Given the description of an element on the screen output the (x, y) to click on. 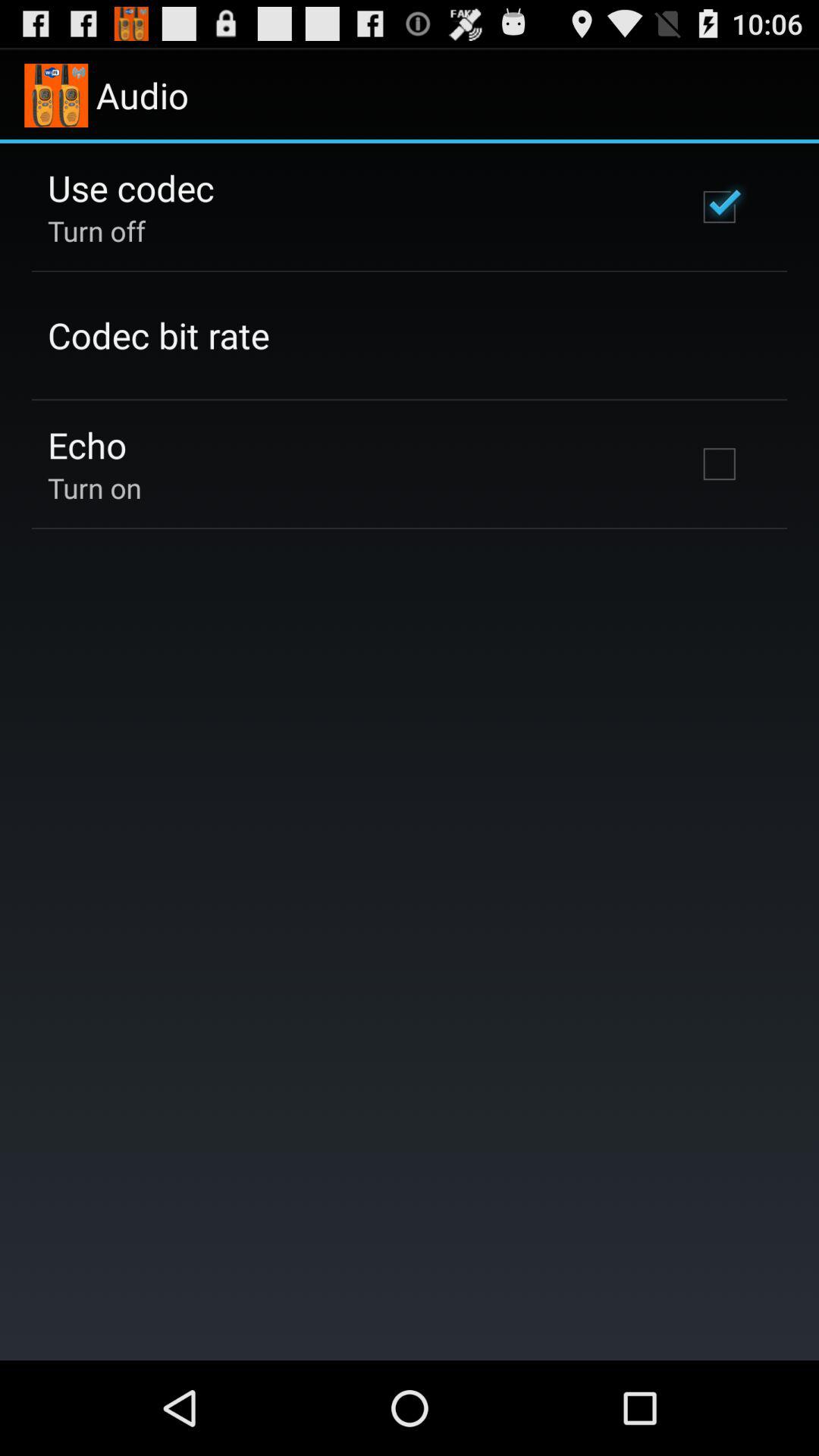
tap icon below turn off app (158, 335)
